Given the description of an element on the screen output the (x, y) to click on. 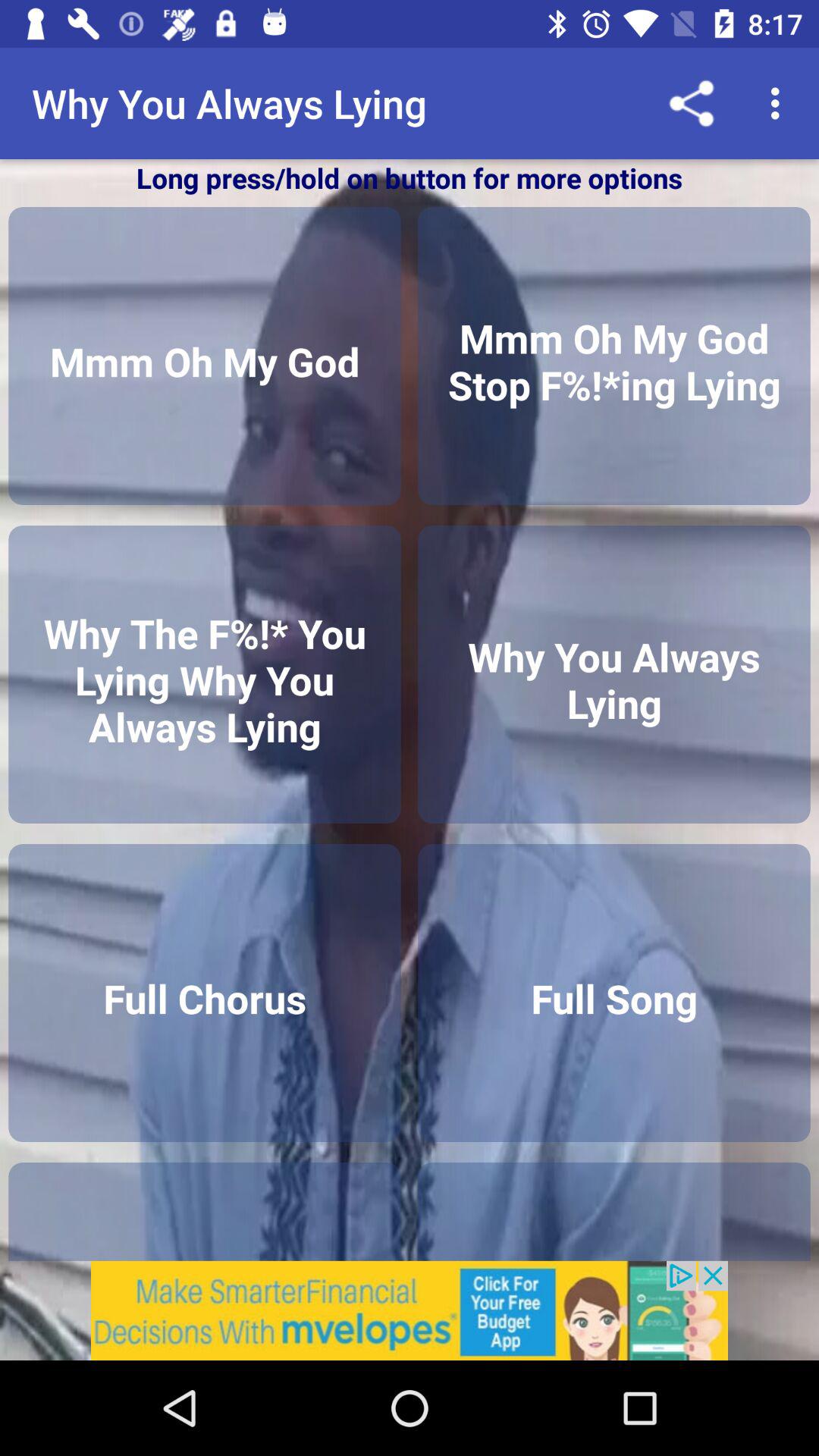
remove the add (409, 1310)
